Given the description of an element on the screen output the (x, y) to click on. 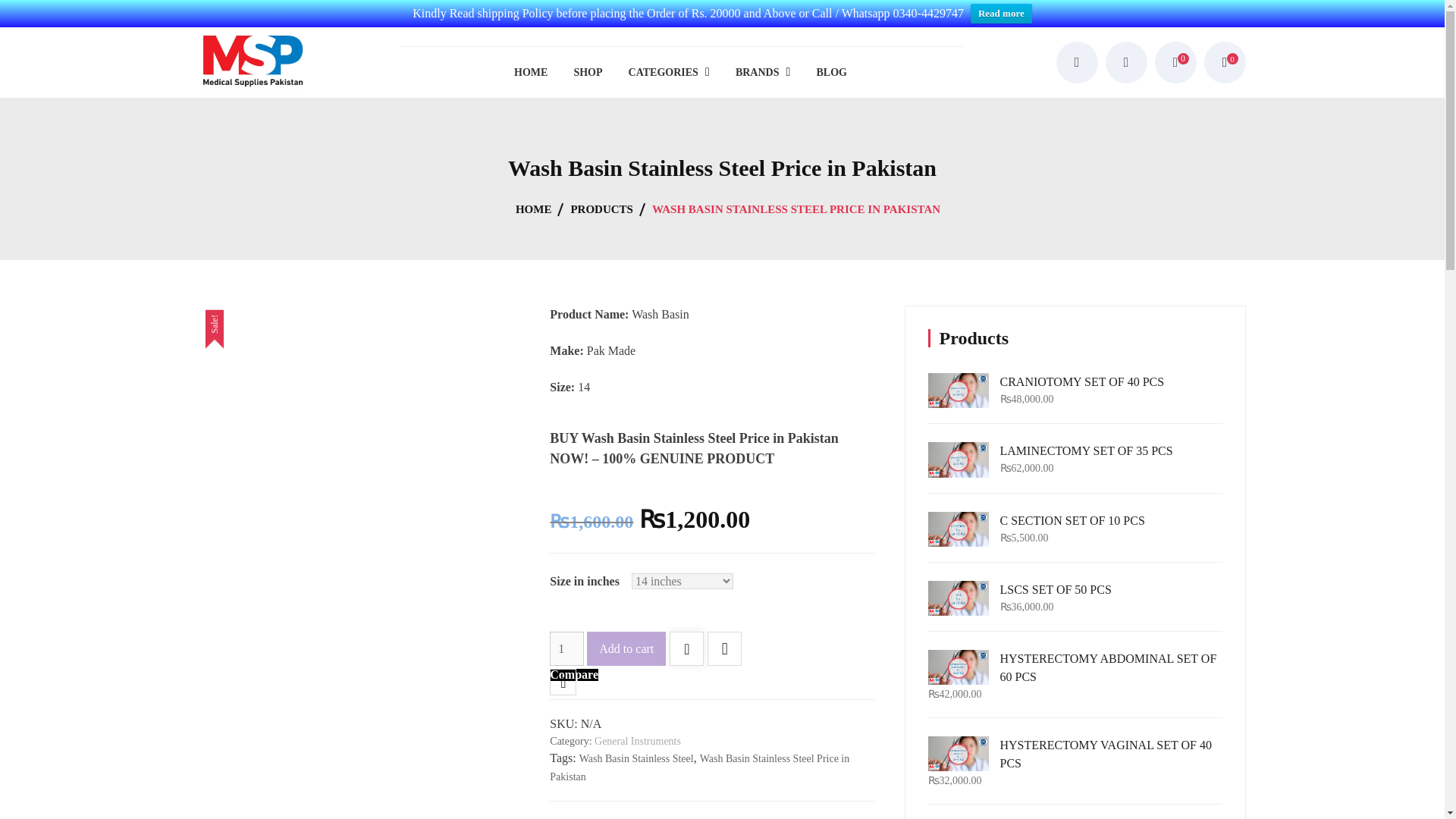
Add to Wishlist (686, 649)
Read more (1001, 13)
My Wishlist (1174, 62)
1 (566, 648)
